Given the description of an element on the screen output the (x, y) to click on. 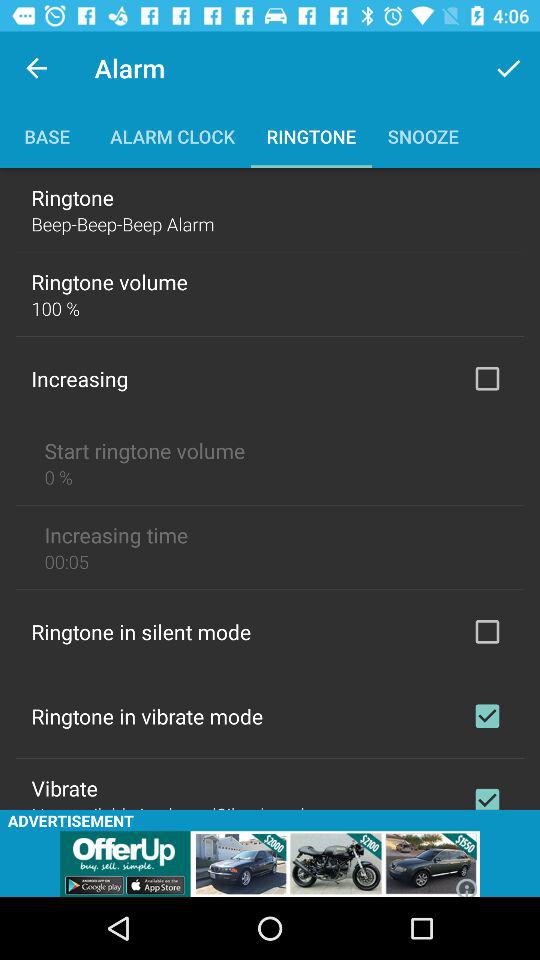
tick box (487, 631)
